Given the description of an element on the screen output the (x, y) to click on. 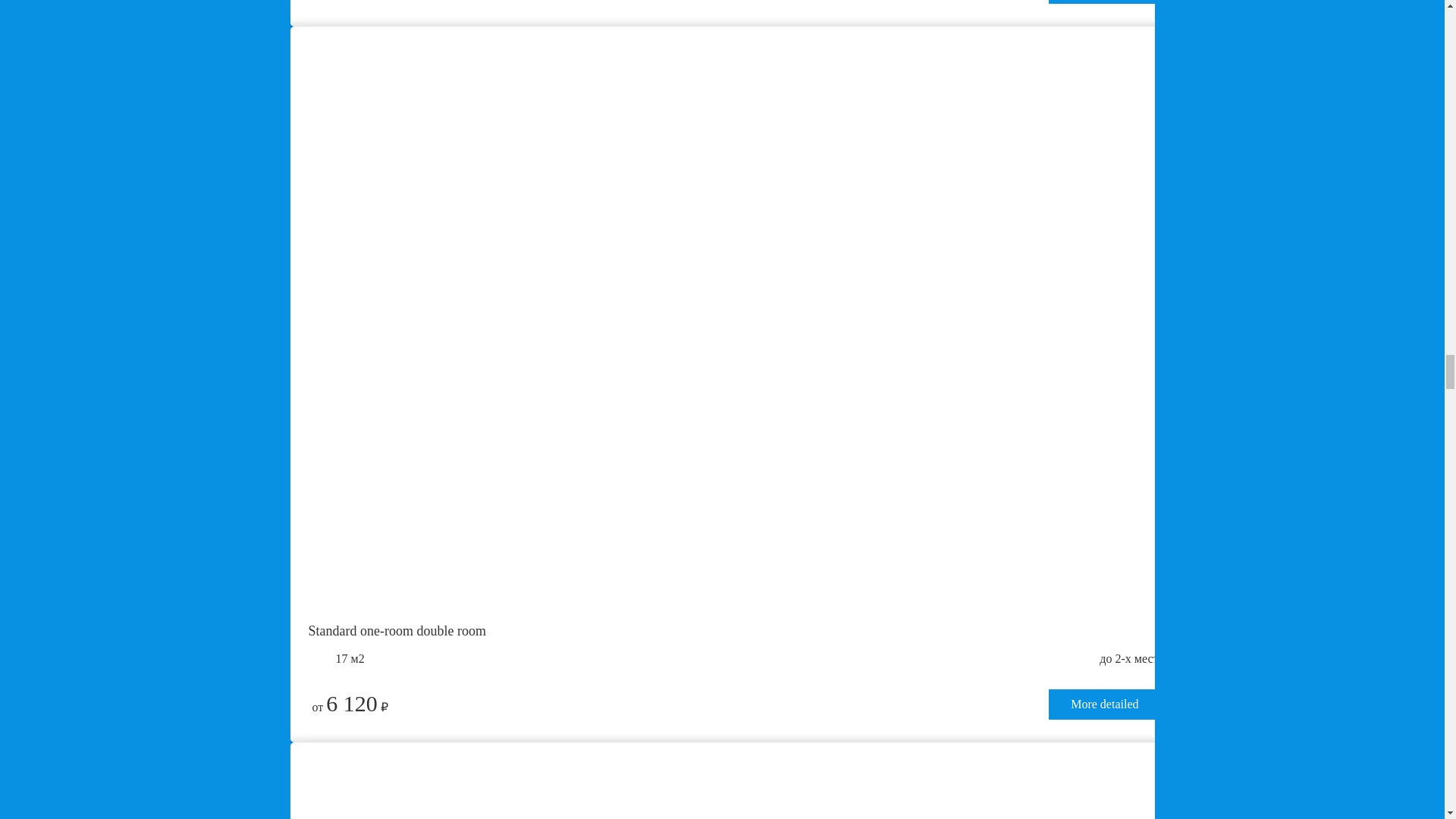
More detailed (1104, 704)
More detailed (1104, 2)
Standard one-room double room (732, 627)
